Given the description of an element on the screen output the (x, y) to click on. 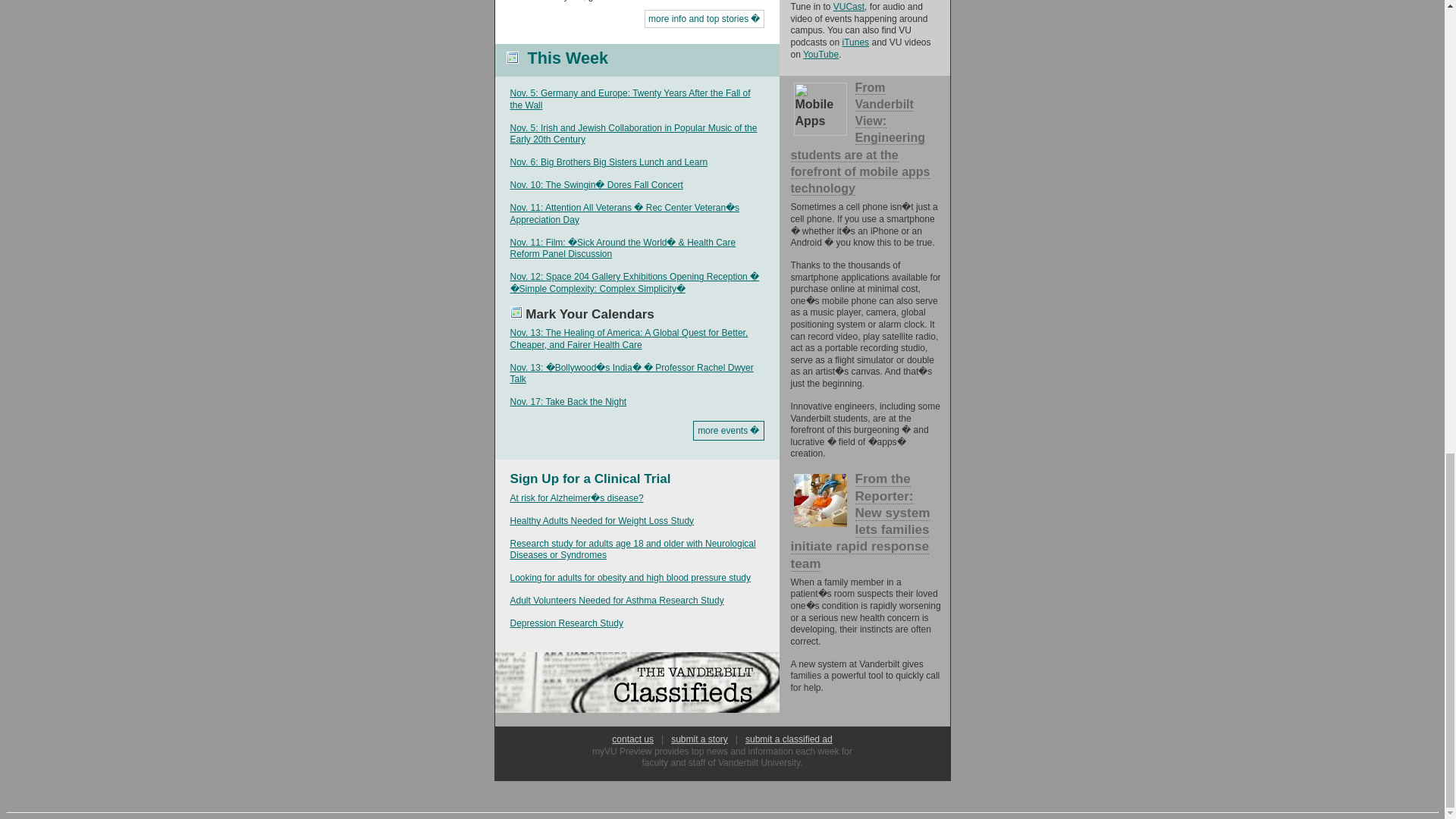
Mobile Apps (819, 108)
Nov. 17: Take Back the Night (567, 401)
Healthy Adults Needed for Weight Loss Study (601, 520)
Depression Research Study (566, 623)
Reporter Rapid Response (819, 499)
Nov. 6: Big Brothers Big Sisters Lunch and Learn (608, 162)
Looking for adults for obesity and high blood pressure study (630, 577)
